Given the description of an element on the screen output the (x, y) to click on. 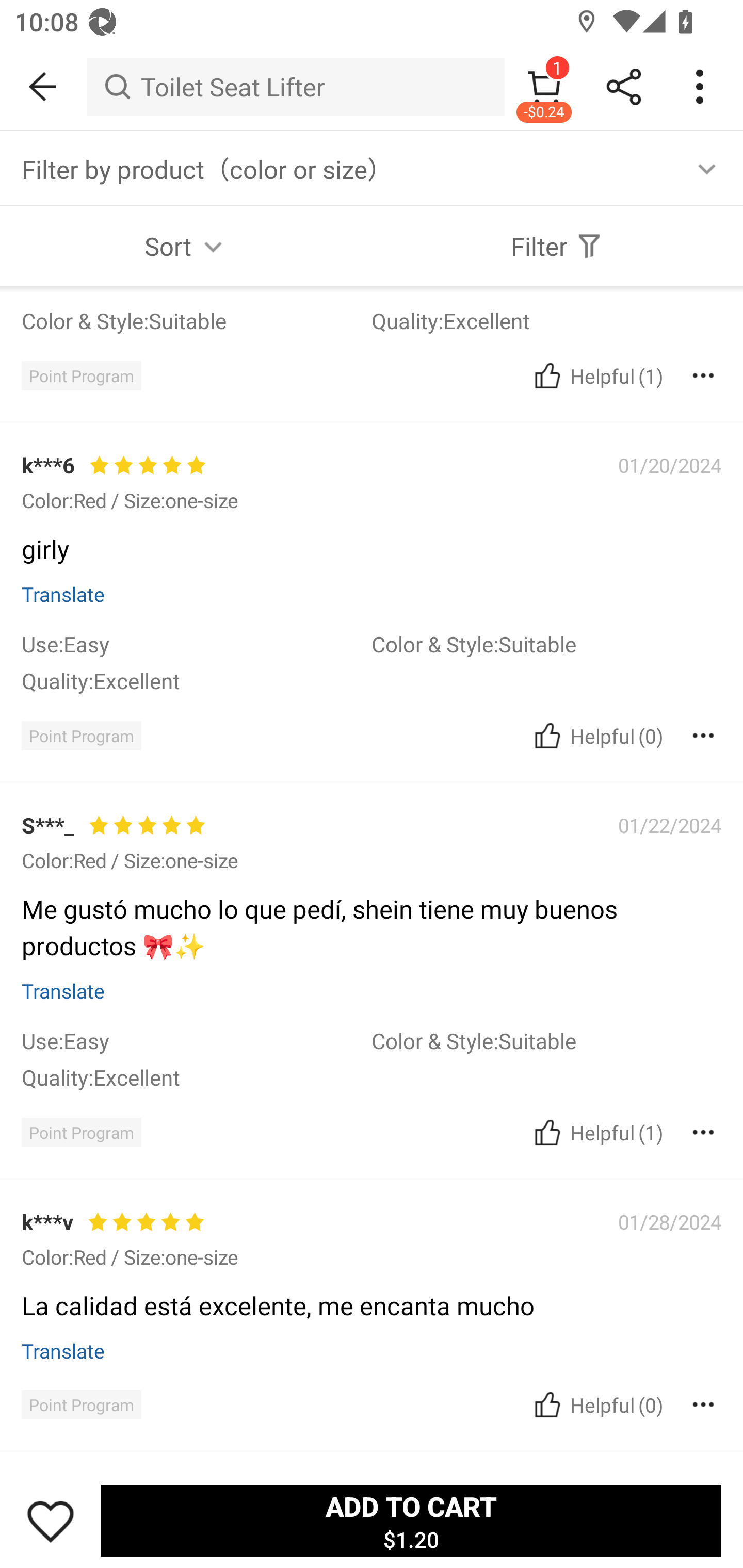
BACK (43, 86)
1 -$0.24 (543, 87)
Toilet Seat Lifter (295, 87)
PHOTOS Marketplace 1 / 7 (371, 501)
PHOTOS (371, 501)
Filter by product（color or size） (371, 168)
Sort (185, 245)
Filter (557, 245)
Color & Style:Suitable (196, 320)
Quality:Excellent (546, 320)
Cancel Helpful Was this article helpful? (1) (596, 375)
Point Program (81, 375)
Translate (62, 594)
Use:Easy (196, 643)
Color & Style:Suitable (546, 643)
Quality:Excellent (196, 680)
Cancel Helpful Was this article helpful? (0) (596, 735)
Point Program (81, 736)
$1.20 Save $0.06 off this item after joining. (371, 932)
Translate (62, 989)
Use:Easy (196, 1040)
Color & Style:Suitable (546, 1040)
Quality:Excellent (196, 1077)
Cancel Helpful Was this article helpful? (1) (596, 1132)
Point Program (81, 1132)
Qty: 1 (371, 1241)
Translate (62, 1350)
Cancel Helpful Was this article helpful? (0) (596, 1404)
Point Program (81, 1404)
ADD TO CART $1.20 (411, 1520)
Save (50, 1520)
